Given the description of an element on the screen output the (x, y) to click on. 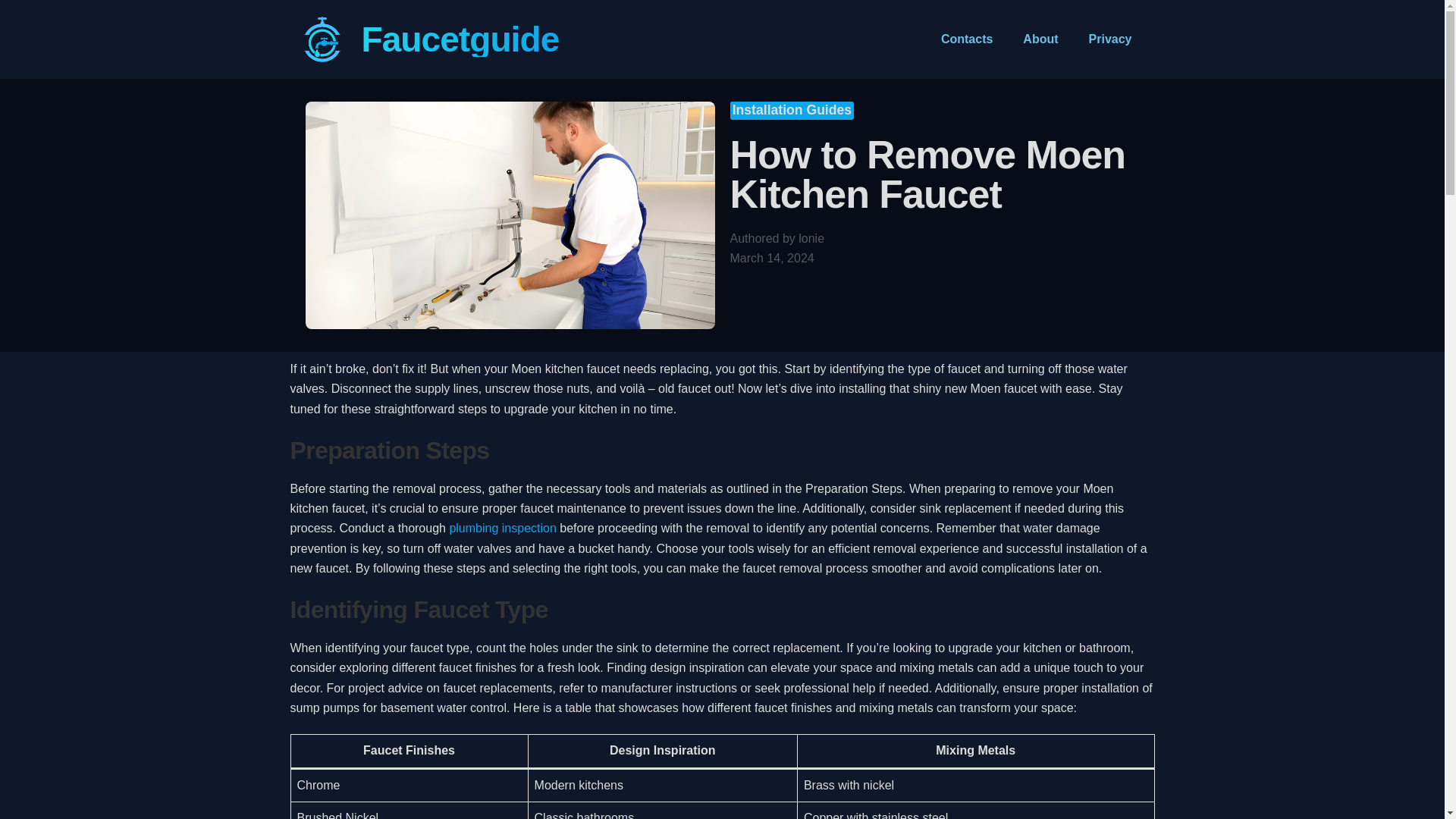
How to Remove Moen Kitchen Faucet (927, 174)
Installation Guides (791, 109)
Privacy (1110, 39)
plumbing inspection (502, 527)
Faucetguide (460, 38)
About (1040, 39)
Contacts (966, 39)
